Given the description of an element on the screen output the (x, y) to click on. 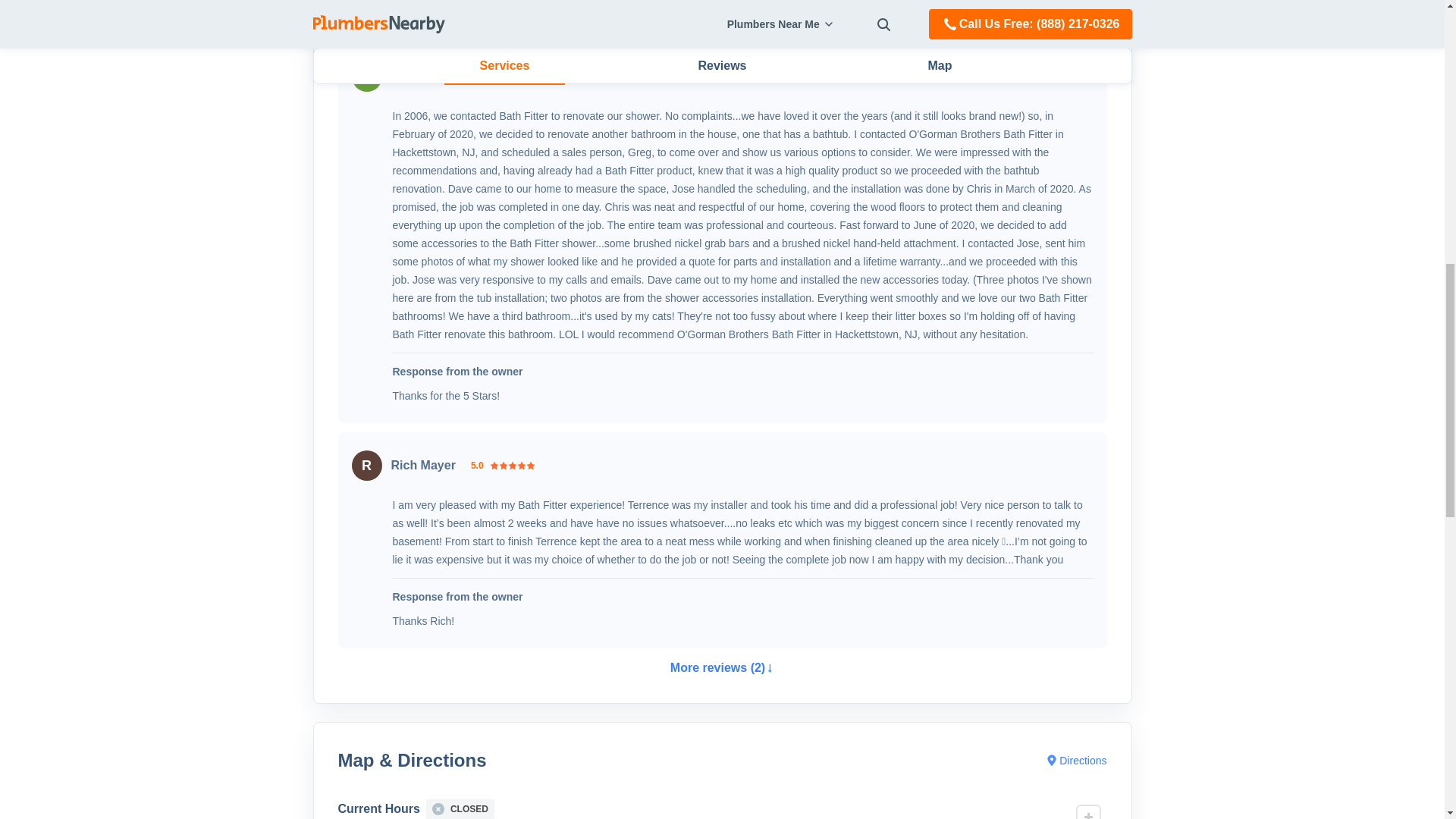
Zoom in (1088, 812)
